Given the description of an element on the screen output the (x, y) to click on. 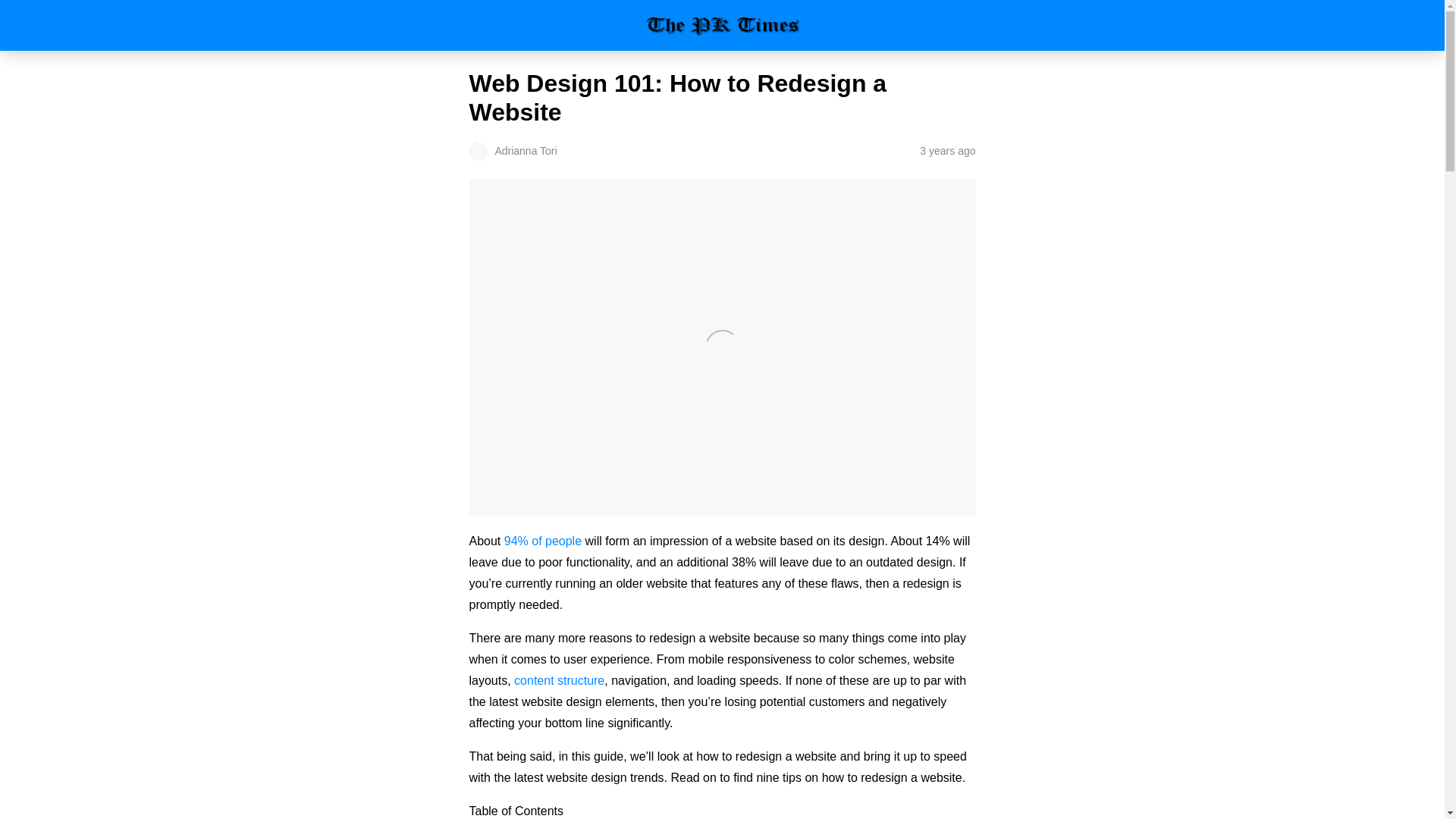
The PK Times (721, 25)
content structure (558, 680)
